Given the description of an element on the screen output the (x, y) to click on. 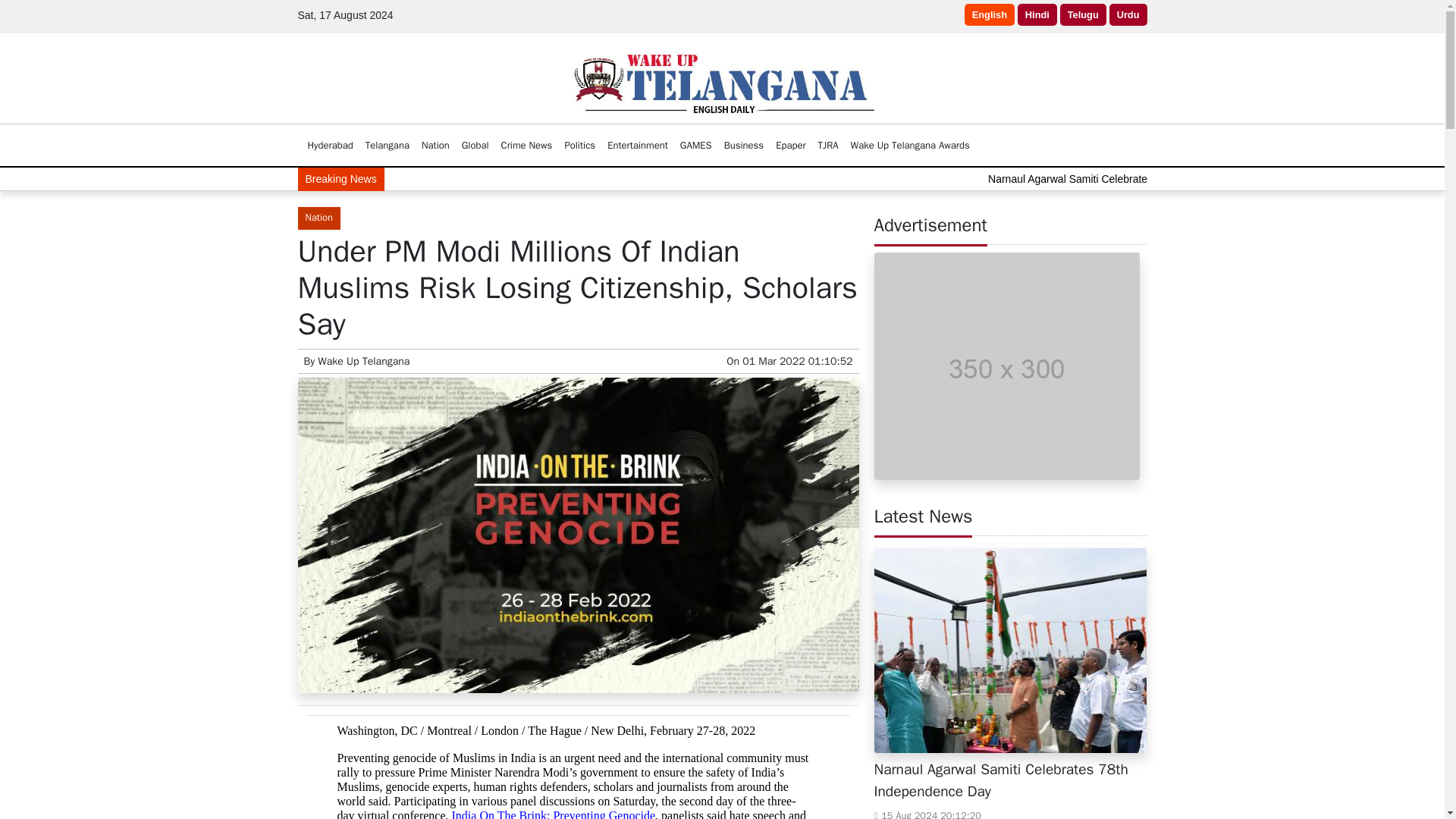
Telangana (386, 144)
Crime News (527, 144)
Global (475, 144)
Hindi (1037, 14)
Narnaul Agarwal Samiti Celebrates 78th Independence Day (1262, 179)
TJRA (828, 144)
GAMES (695, 144)
Telugu (1082, 14)
Urdu (1128, 14)
Politics (579, 144)
